Given the description of an element on the screen output the (x, y) to click on. 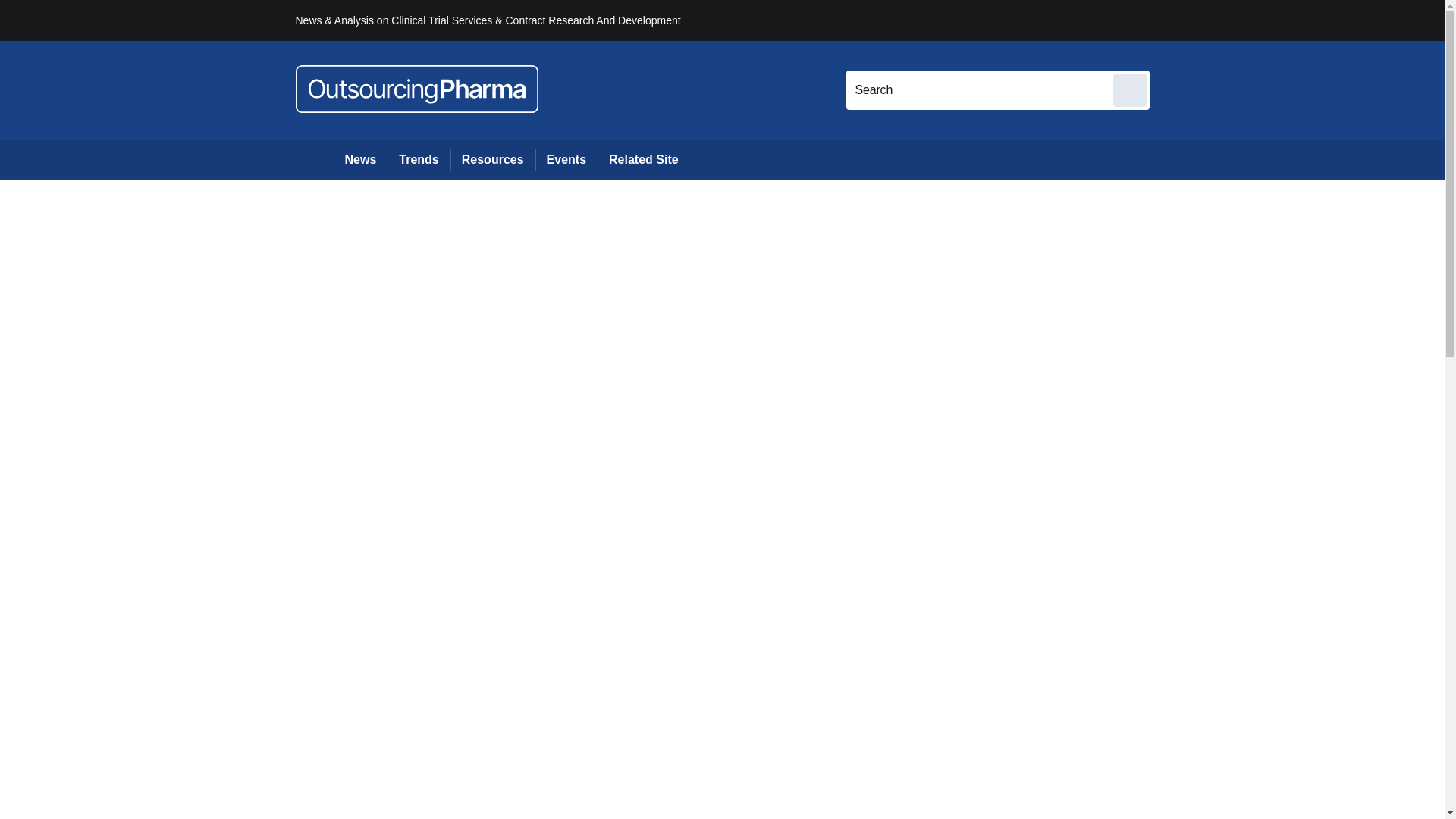
Sign in (1171, 20)
Home (313, 159)
My account (1256, 20)
Home (314, 159)
Send (1129, 89)
Resources (492, 159)
REGISTER (1250, 20)
Trends (418, 159)
Sign out (1174, 20)
OutsourcingPharma (416, 89)
